Given the description of an element on the screen output the (x, y) to click on. 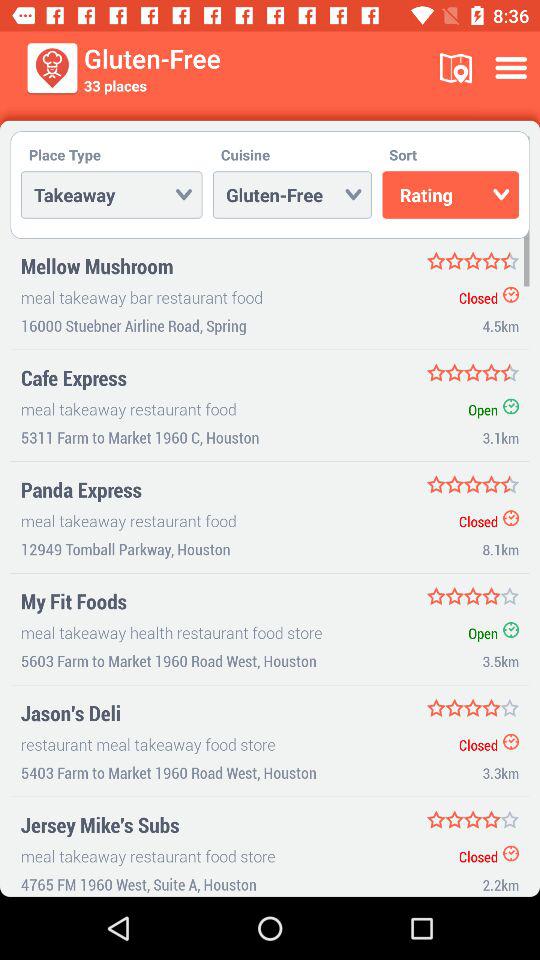
click on the button left to menu button (456, 68)
